Given the description of an element on the screen output the (x, y) to click on. 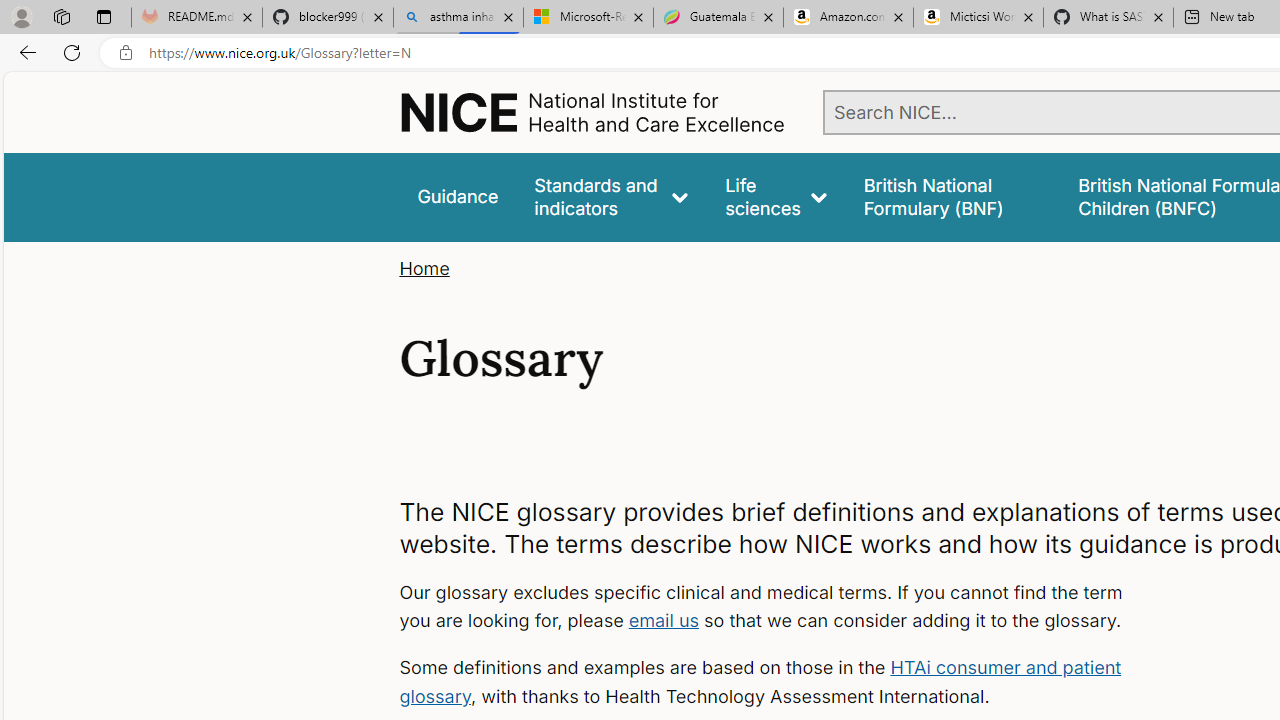
false (952, 196)
Life sciences (776, 196)
Microsoft-Report a Concern to Bing (587, 17)
Tab actions menu (104, 16)
Guidance (458, 196)
email us (664, 620)
asthma inhaler - Search (458, 17)
Workspaces (61, 16)
Home (424, 268)
Home (424, 268)
